Given the description of an element on the screen output the (x, y) to click on. 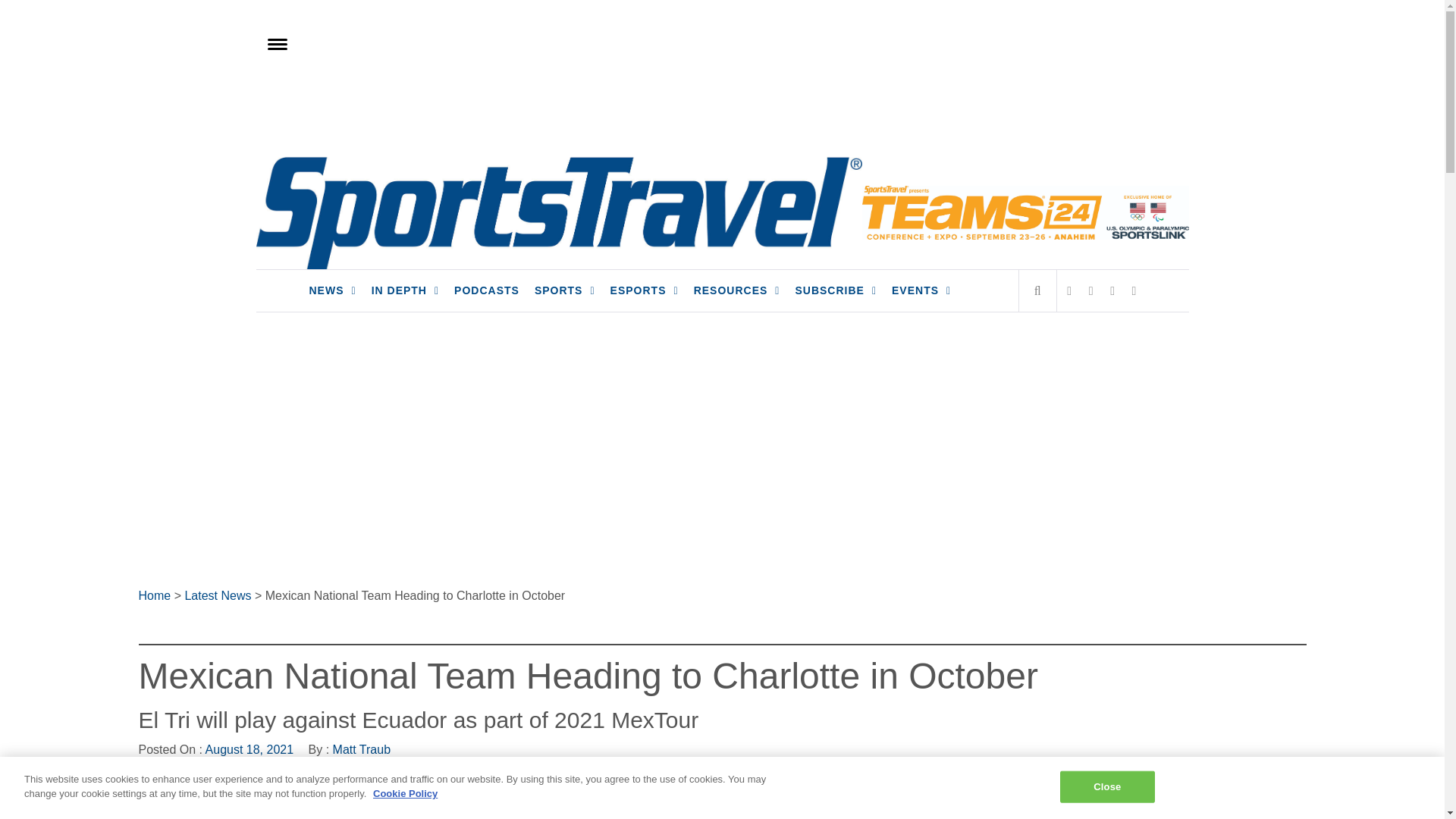
3rd party ad content (721, 100)
SportsTravel (354, 177)
RESOURCES (736, 291)
SPORTS (564, 291)
ESPORTS (643, 291)
NEWS (332, 291)
PODCASTS (486, 291)
Toggle menu (275, 42)
IN DEPTH (405, 291)
